Given the description of an element on the screen output the (x, y) to click on. 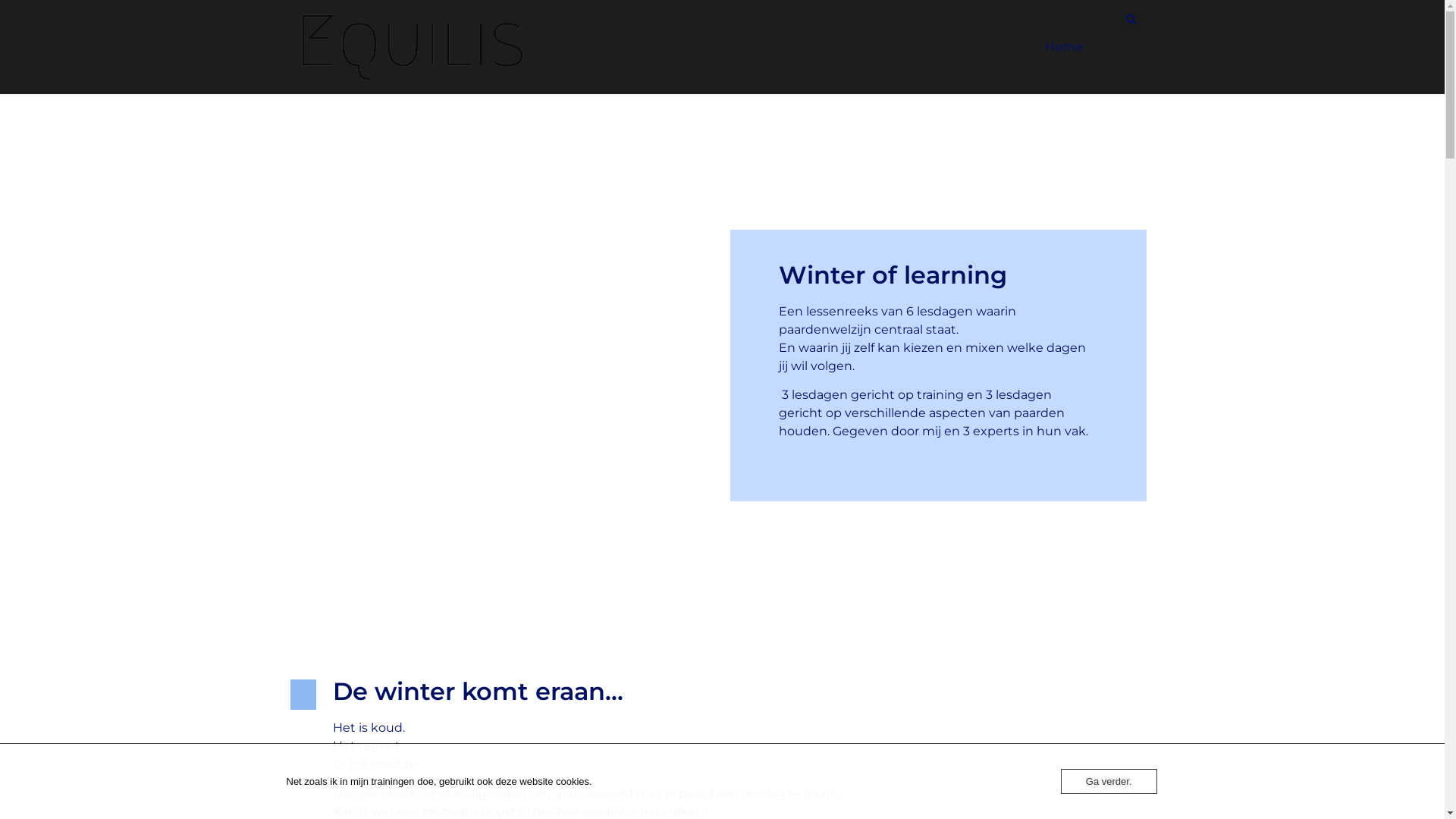
Home Element type: text (1063, 46)
Ga verder. Element type: text (1108, 780)
